Given the description of an element on the screen output the (x, y) to click on. 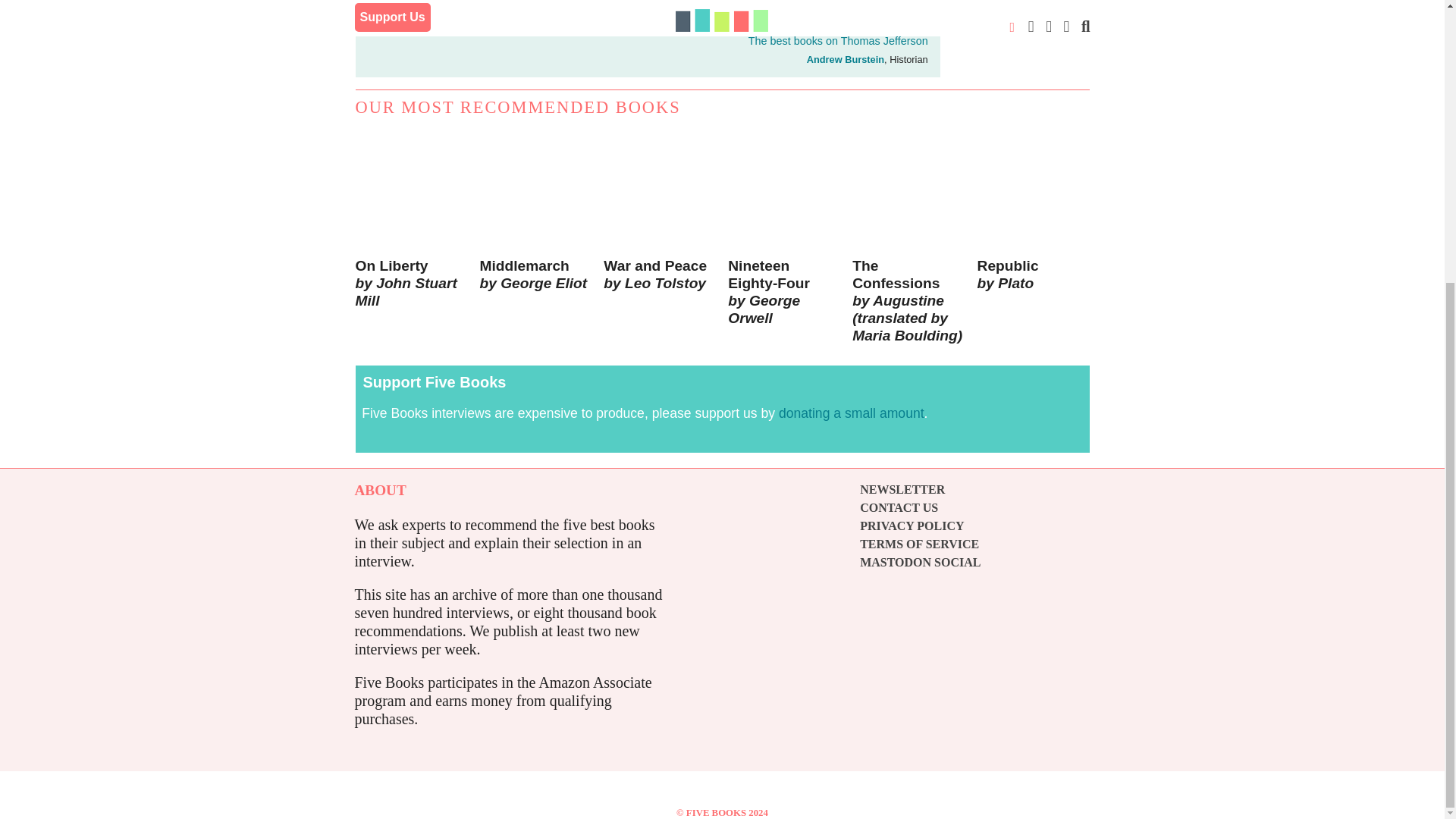
Republic (1032, 236)
War and Peace (660, 236)
Middlemarch (535, 236)
